Given the description of an element on the screen output the (x, y) to click on. 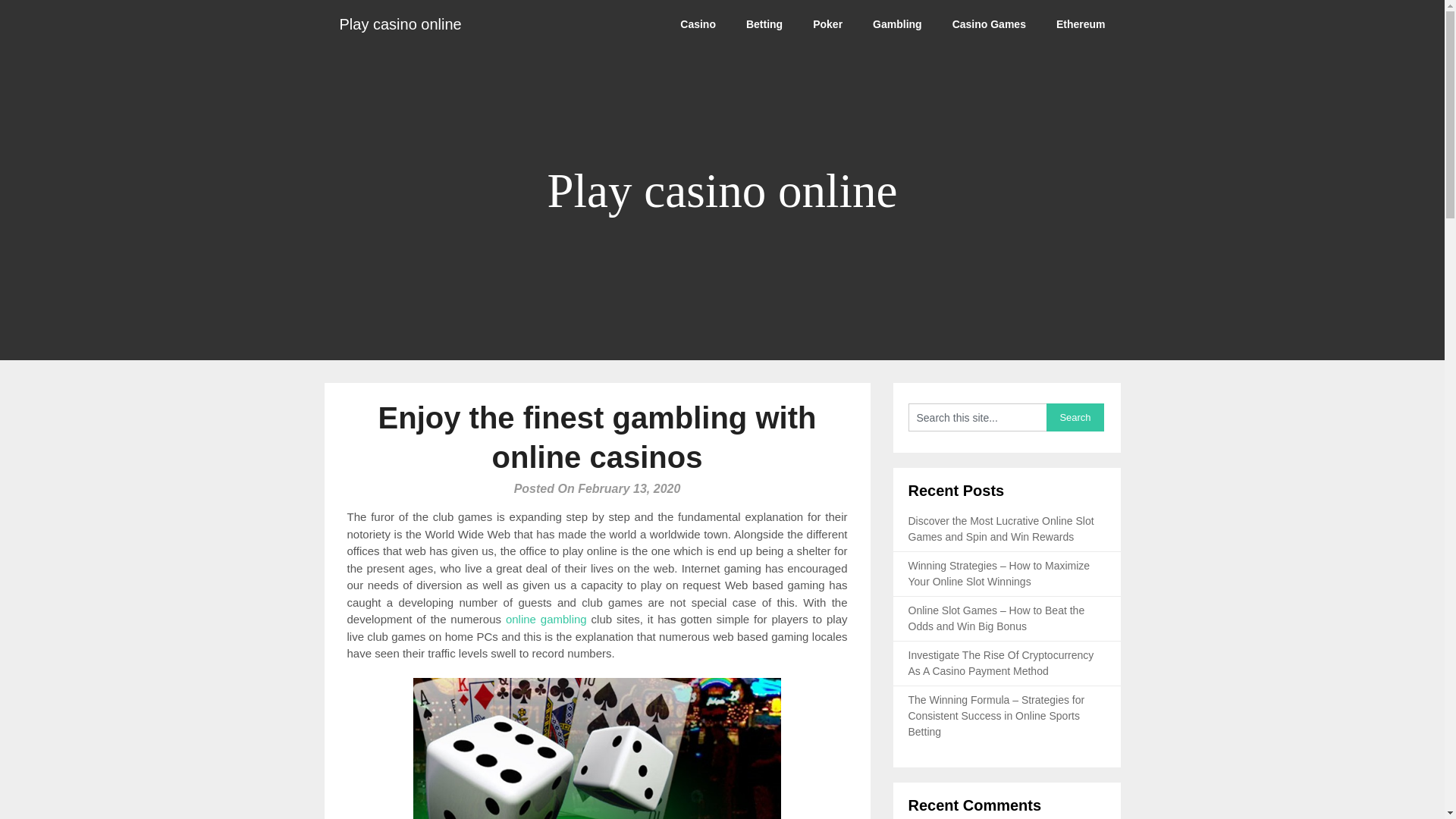
Search this site... (977, 417)
Gambling (897, 24)
Casino Games (989, 24)
Casino (697, 24)
Search (1075, 417)
Search (1075, 417)
Poker (827, 24)
Play casino online (400, 24)
Betting (763, 24)
online gambling (545, 618)
Ethereum (1081, 24)
